Given the description of an element on the screen output the (x, y) to click on. 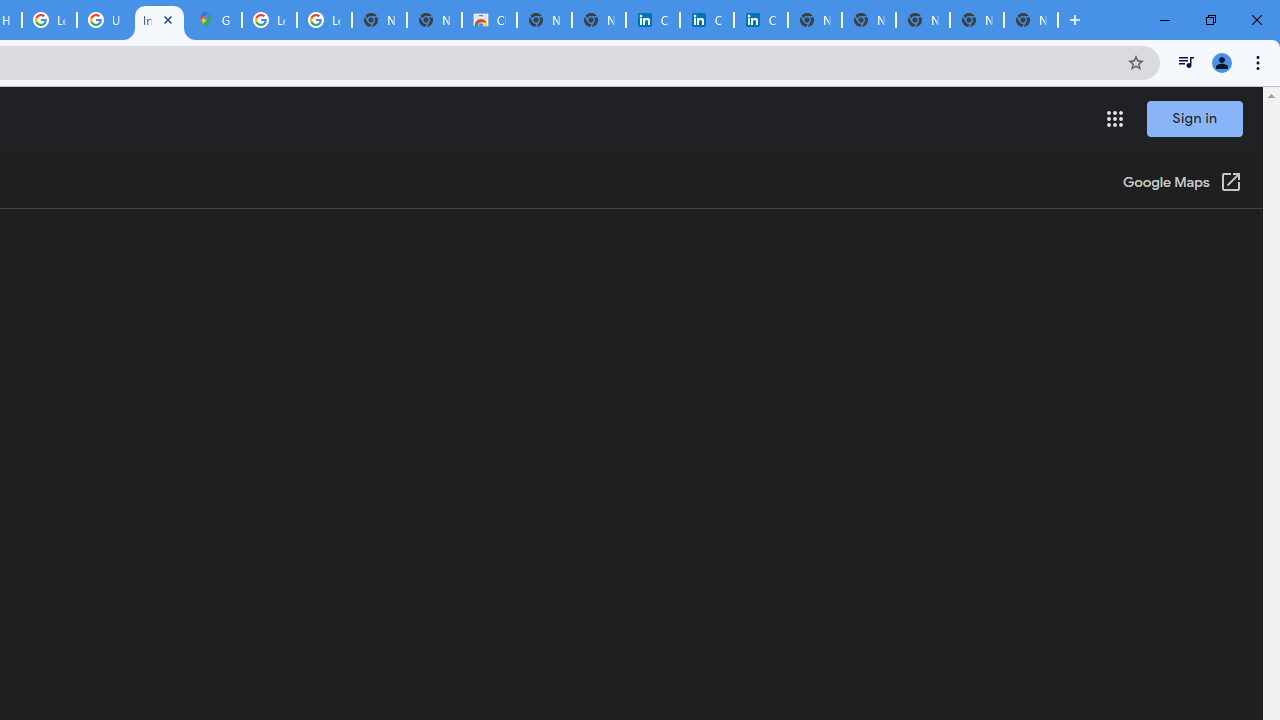
Control your music, videos, and more (1185, 62)
Google Maps (Open in a new window) (1182, 183)
New Tab (1030, 20)
Copyright Policy (760, 20)
Cookie Policy | LinkedIn (706, 20)
Chrome Web Store (489, 20)
Indoor maps - Google Maps Help (158, 20)
